Given the description of an element on the screen output the (x, y) to click on. 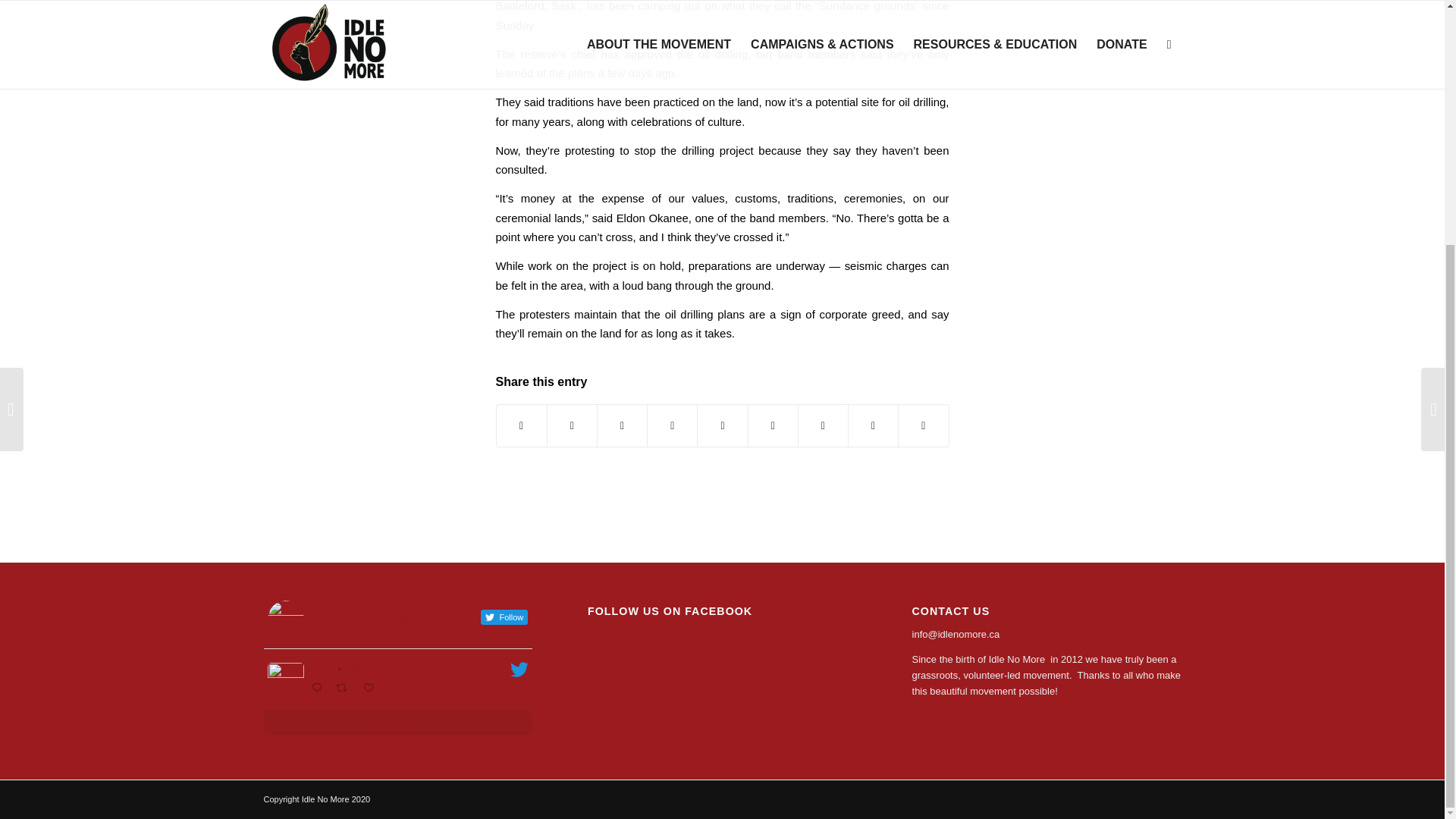
Retweet on Twitter (345, 688)
Twitter (405, 687)
Reply on Twitter (320, 688)
FOLLOW US ON TWITTER Follow (397, 618)
Load More... (397, 721)
Like on Twitter (373, 688)
now (356, 668)
